Given the description of an element on the screen output the (x, y) to click on. 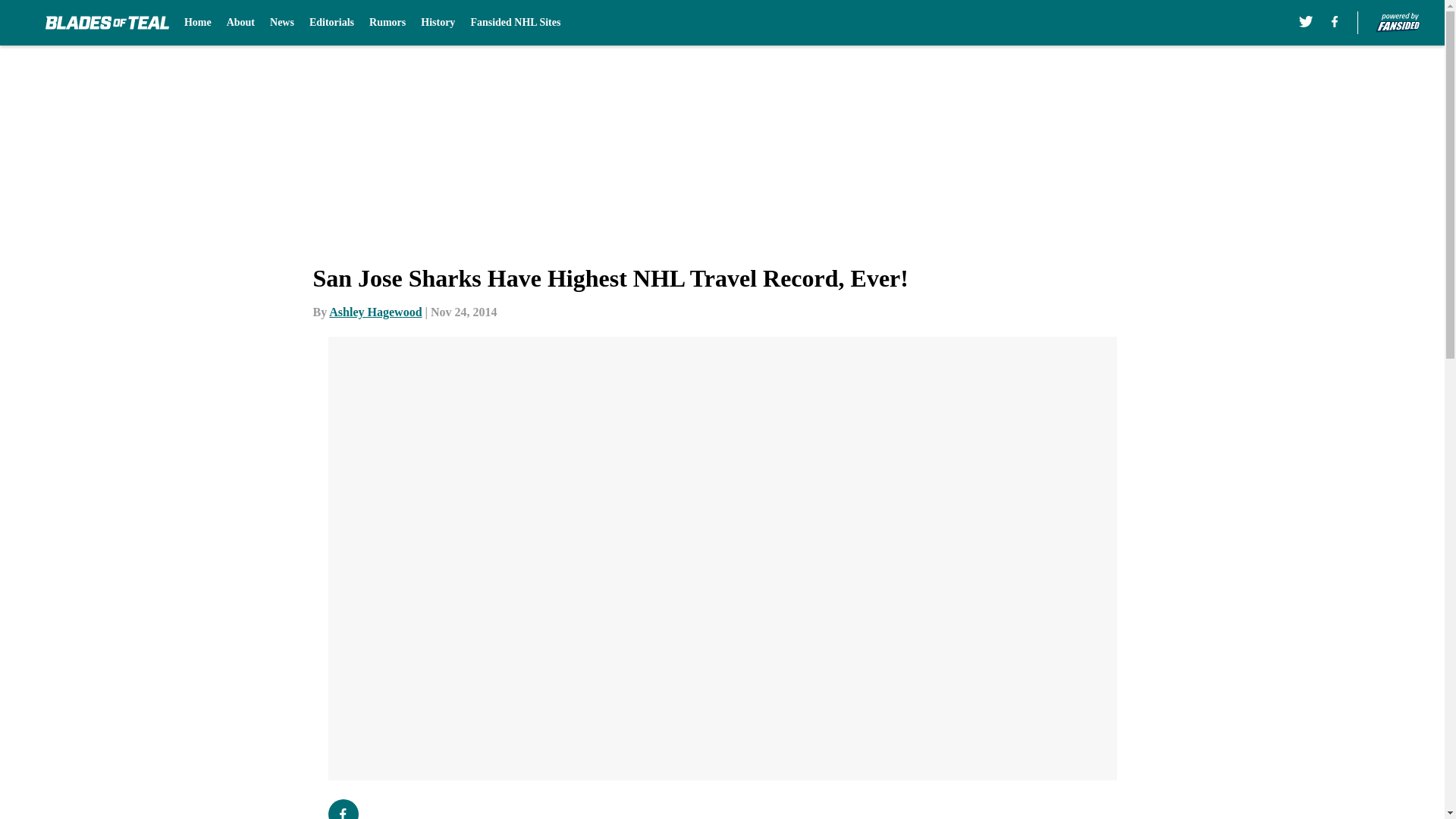
Fansided NHL Sites (515, 22)
Rumors (387, 22)
News (281, 22)
Ashley Hagewood (375, 311)
Editorials (330, 22)
History (437, 22)
About (240, 22)
Home (197, 22)
